Given the description of an element on the screen output the (x, y) to click on. 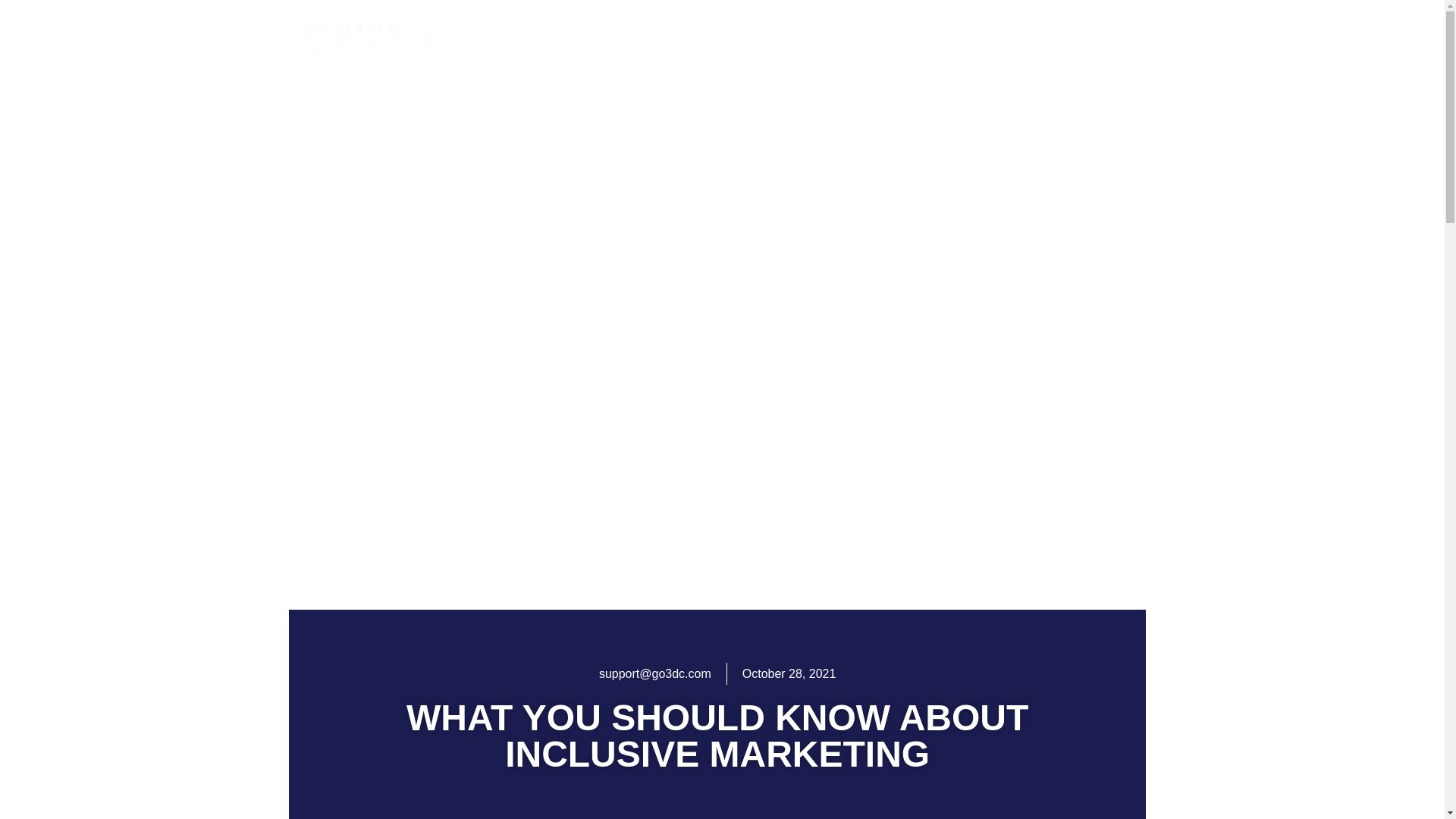
SERVICES (664, 33)
CONTACT (1097, 33)
HOME (528, 33)
BLOG (1028, 33)
ABOUT (589, 33)
LEADERSHIP (759, 33)
CLIENT WORK (945, 33)
REVIEWS (851, 33)
